Given the description of an element on the screen output the (x, y) to click on. 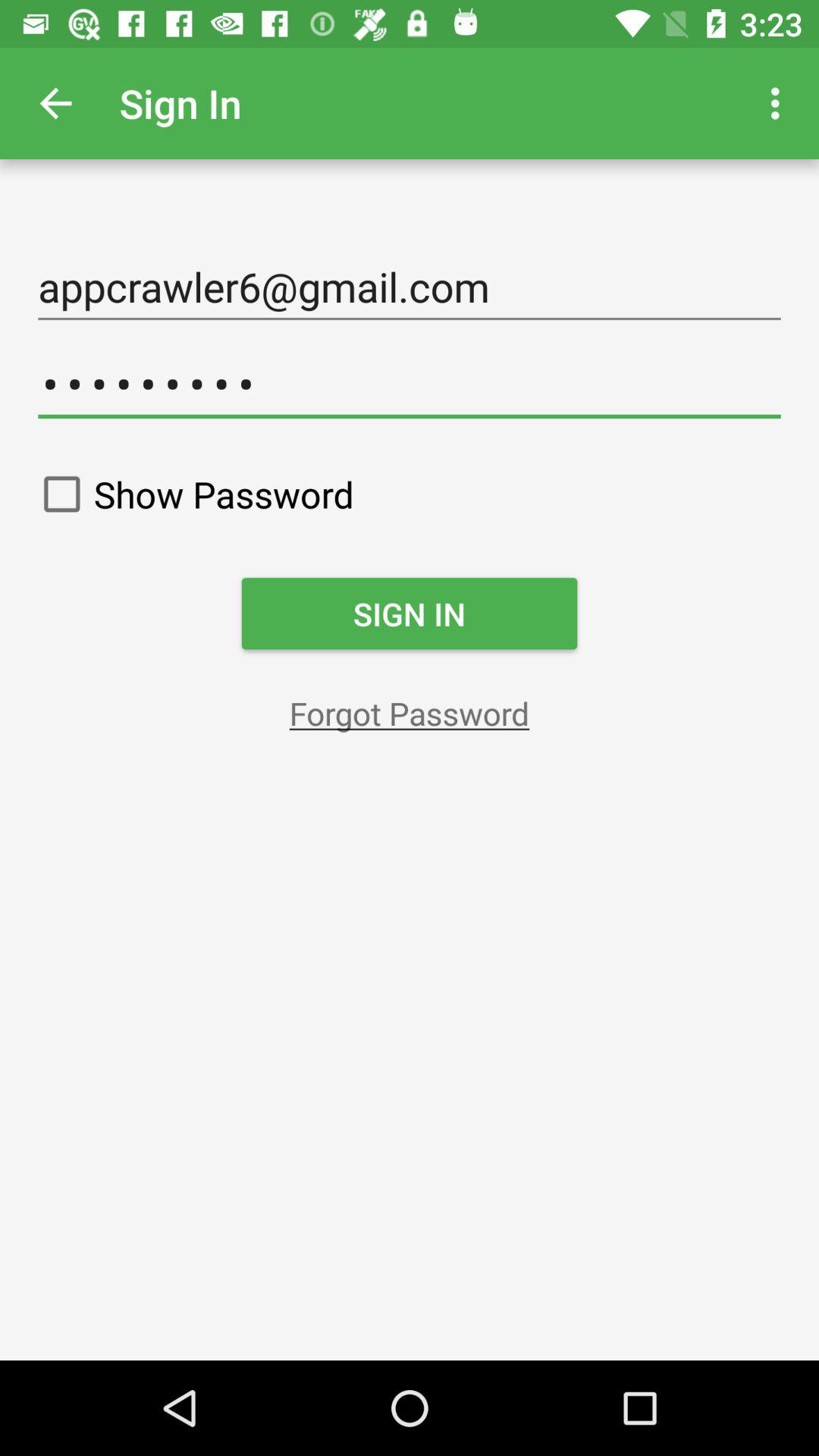
turn on the app to the left of sign in app (55, 103)
